Given the description of an element on the screen output the (x, y) to click on. 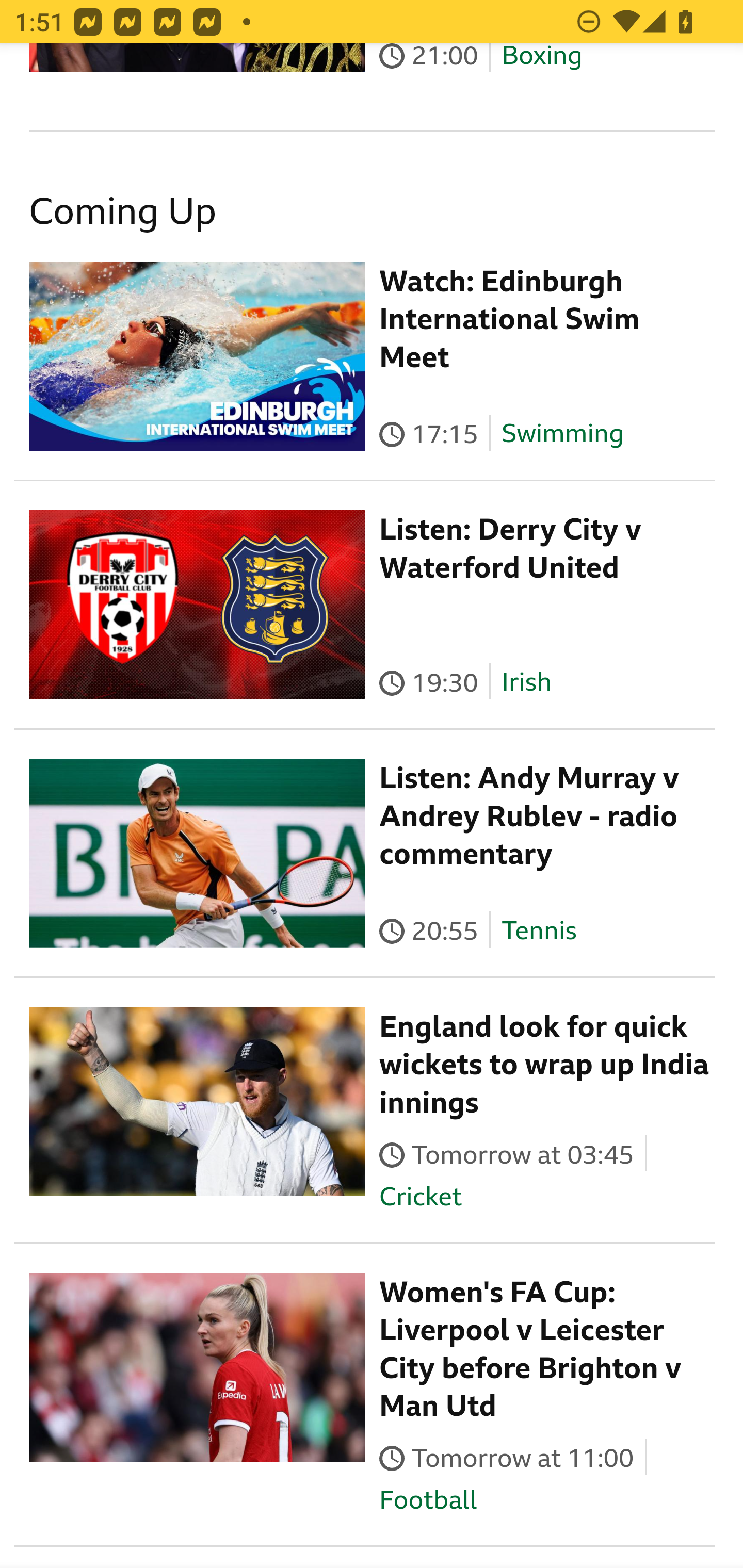
Boxing (541, 57)
Watch: Edinburgh International Swim Meet (509, 318)
Swimming (562, 434)
Listen: Derry City v Waterford United (510, 549)
Irish (526, 681)
Tennis (539, 930)
Cricket (420, 1196)
Football (428, 1499)
